Given the description of an element on the screen output the (x, y) to click on. 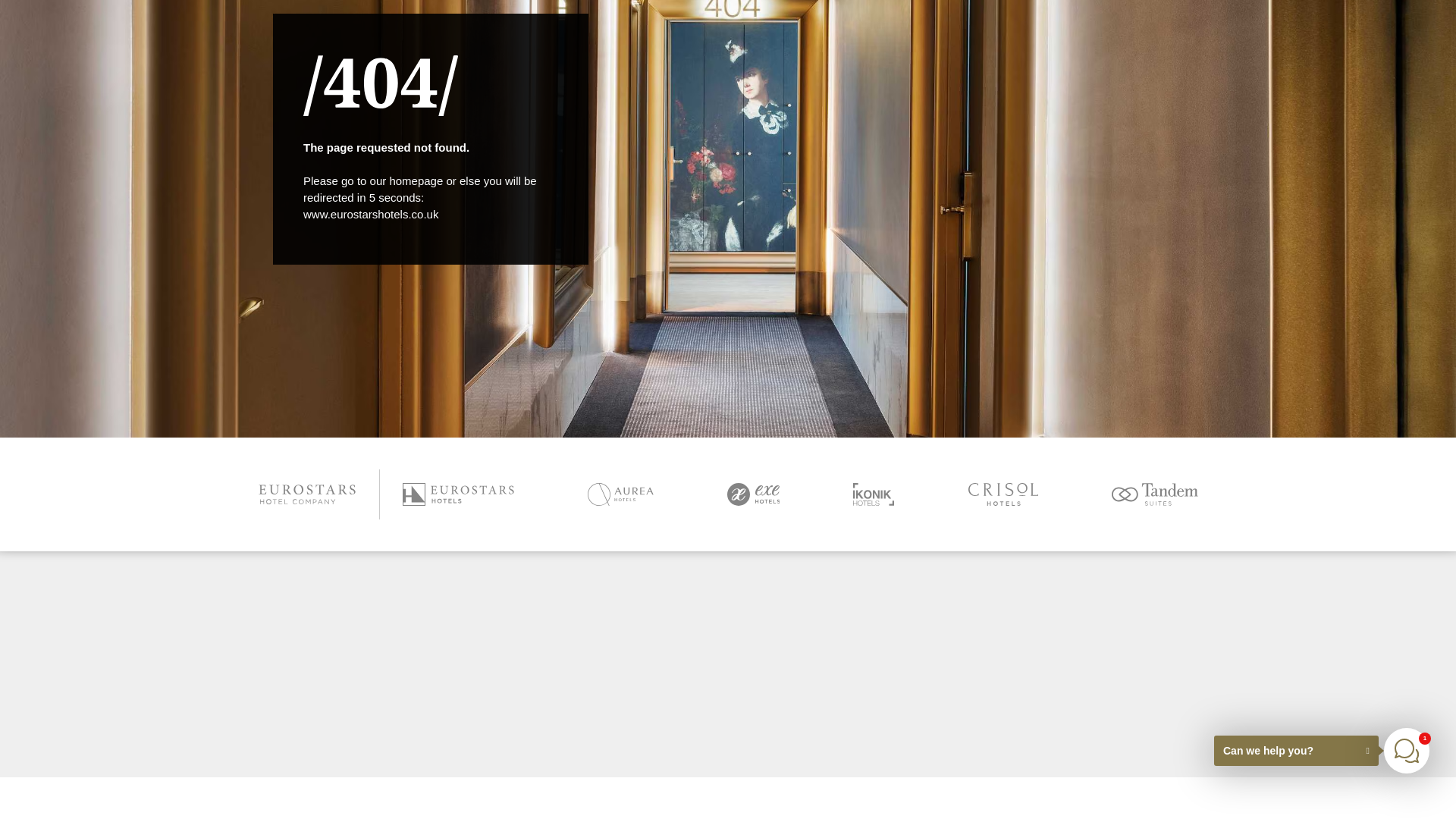
GRUPO HOTUSA (63, 797)
